Given the description of an element on the screen output the (x, y) to click on. 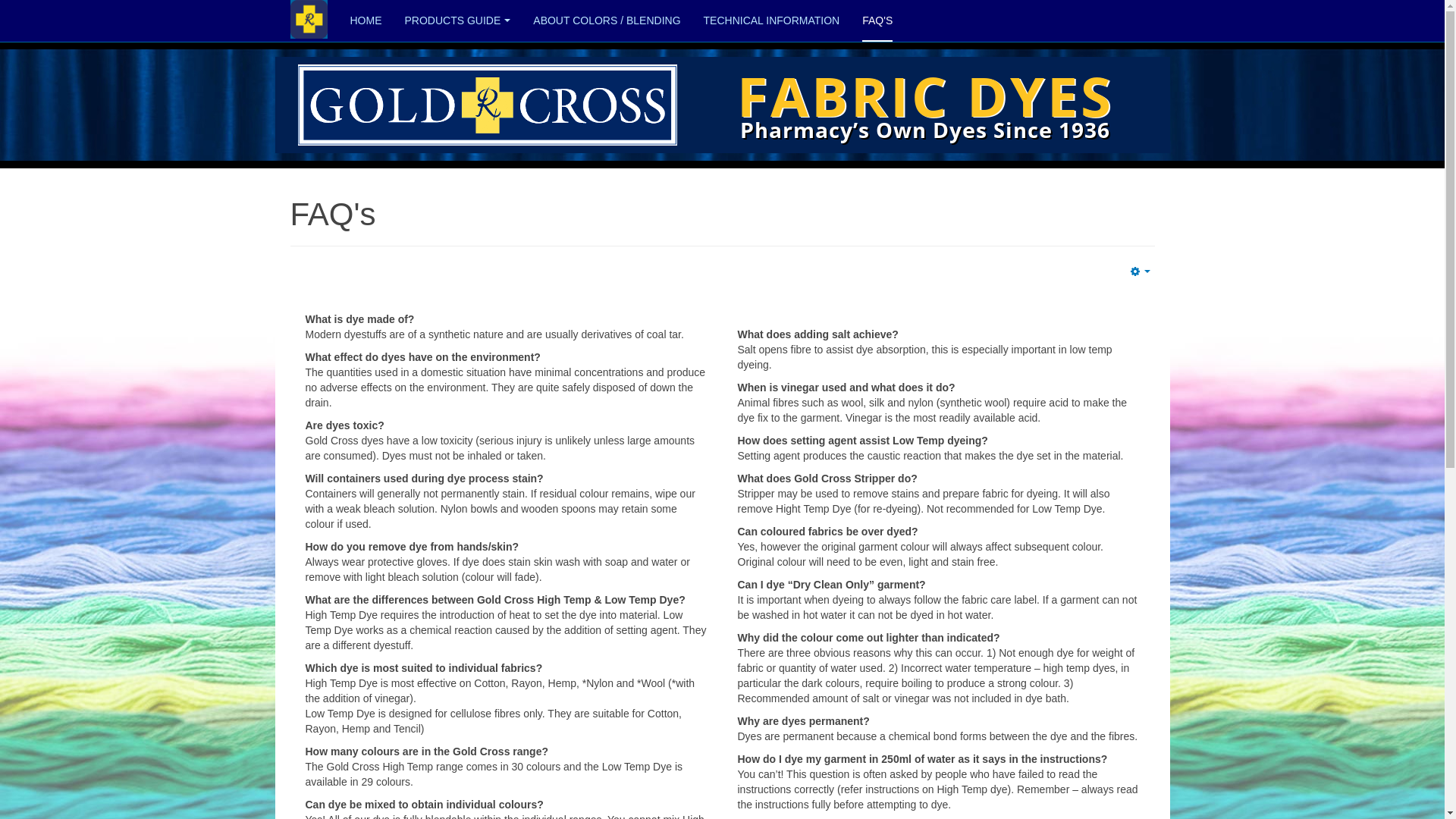
ABOUT COLORS / BLENDING Element type: text (606, 20)
Gold Cross Element type: hover (486, 104)
TECHNICAL INFORMATION Element type: text (771, 20)
Fabric Dyes Element type: hover (926, 104)
FAQ'S Element type: text (877, 20)
PRODUCTS GUIDE Element type: text (457, 20)
Gold Cross Fabric Dyes Element type: hover (307, 19)
Empty Element type: text (1140, 271)
HOME Element type: text (366, 20)
